Given the description of an element on the screen output the (x, y) to click on. 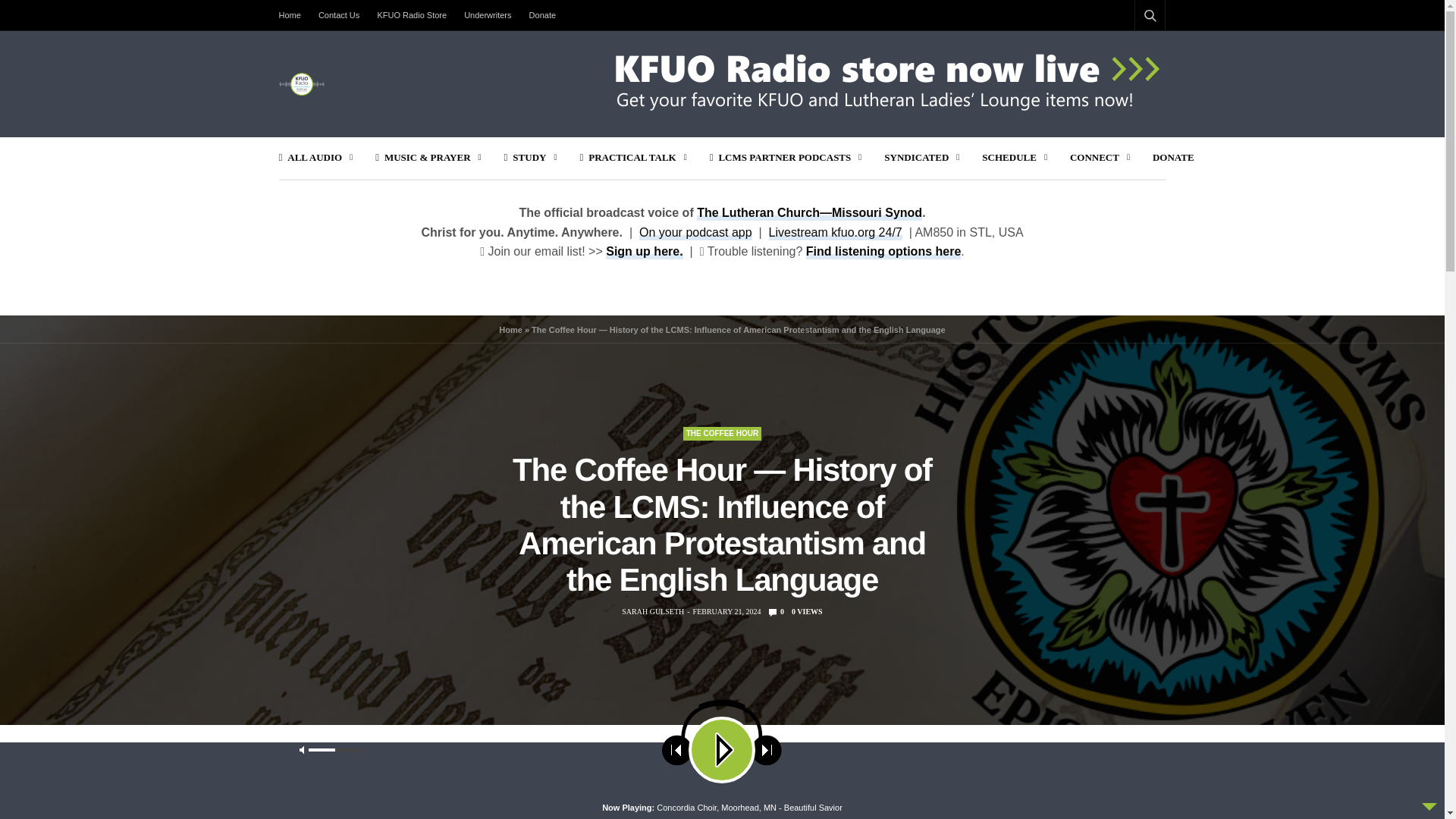
Mute (800, 762)
Posts by Sarah Gulseth (652, 612)
Donate (542, 15)
The Coffee Hour (721, 433)
Search (1125, 784)
Contact Us (338, 15)
KFUO Radio Store (411, 15)
Play (372, 762)
ALL AUDIO (316, 157)
Home (293, 15)
Search (1129, 51)
Underwriters (487, 15)
